Given the description of an element on the screen output the (x, y) to click on. 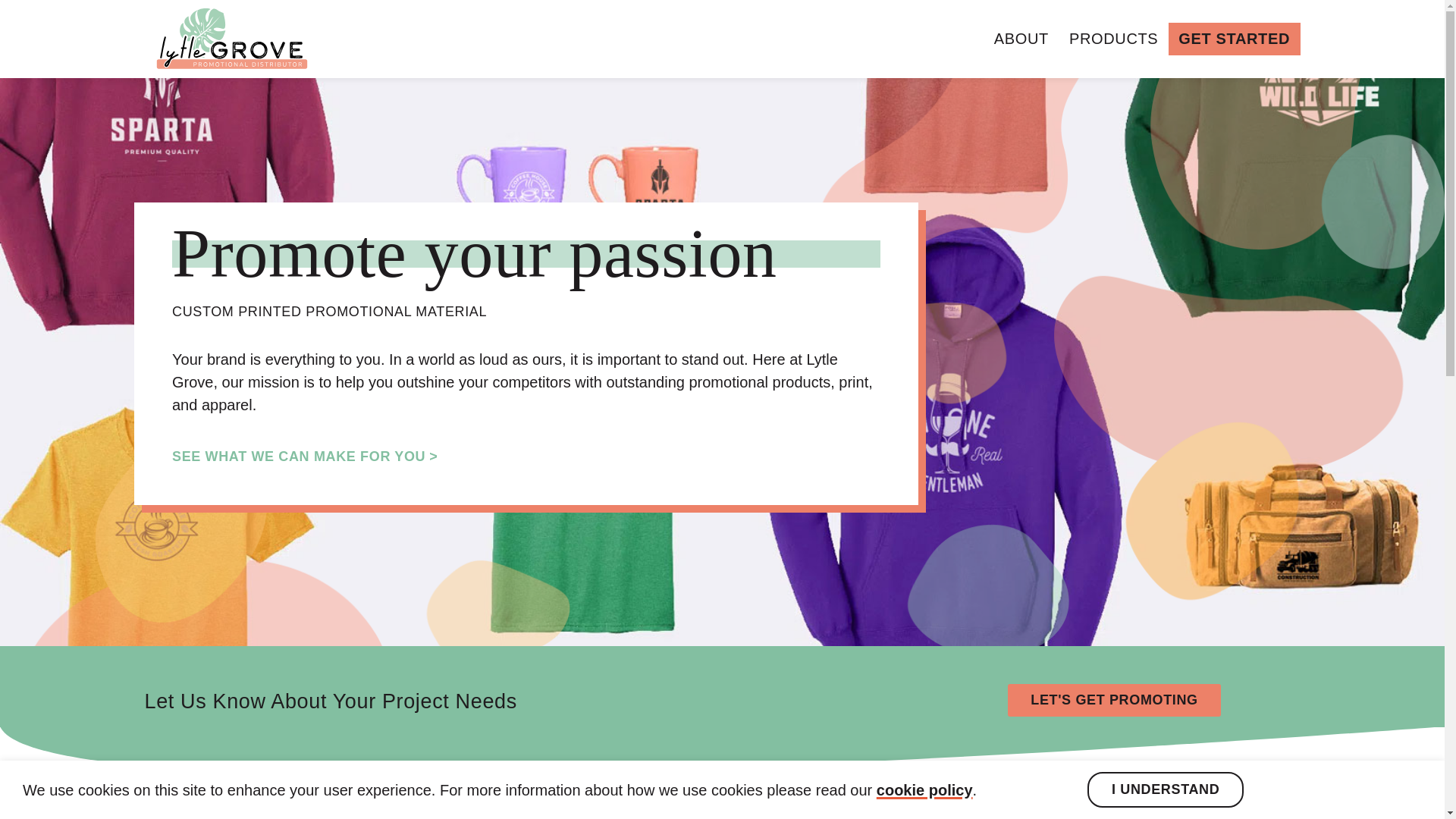
LET'S GET PROMOTING (1113, 699)
I UNDERSTAND (1165, 789)
ABOUT (1021, 38)
GET STARTED (1234, 38)
ABOUT (1021, 38)
PRODUCTS (1112, 38)
SEE WHAT WE CAN MAKE FOR YOU (304, 455)
GET STARTED (1234, 38)
PRODUCTS (1112, 38)
cookie policy (924, 789)
